Given the description of an element on the screen output the (x, y) to click on. 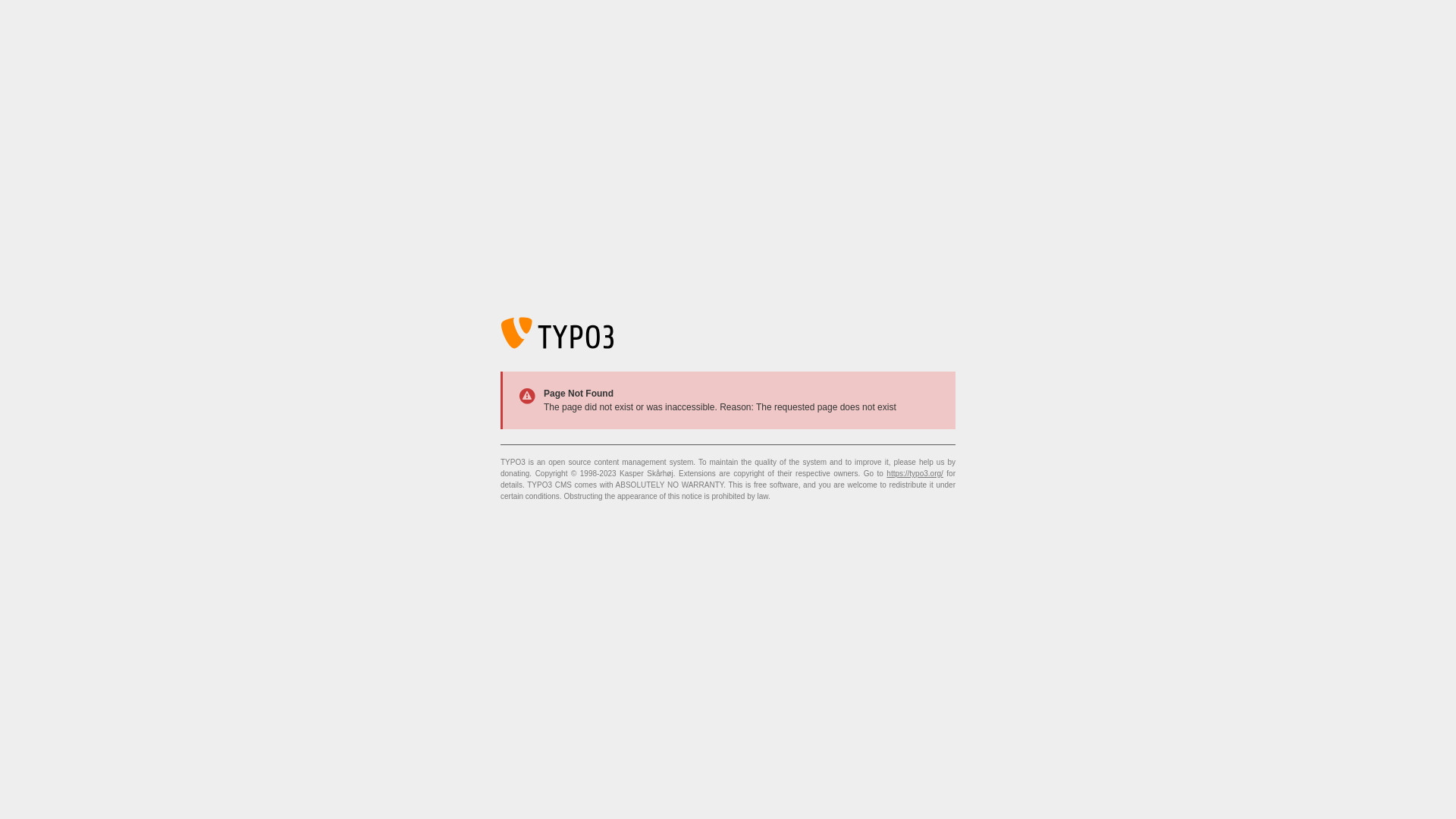
https://typo3.org/ Element type: text (914, 473)
